Given the description of an element on the screen output the (x, y) to click on. 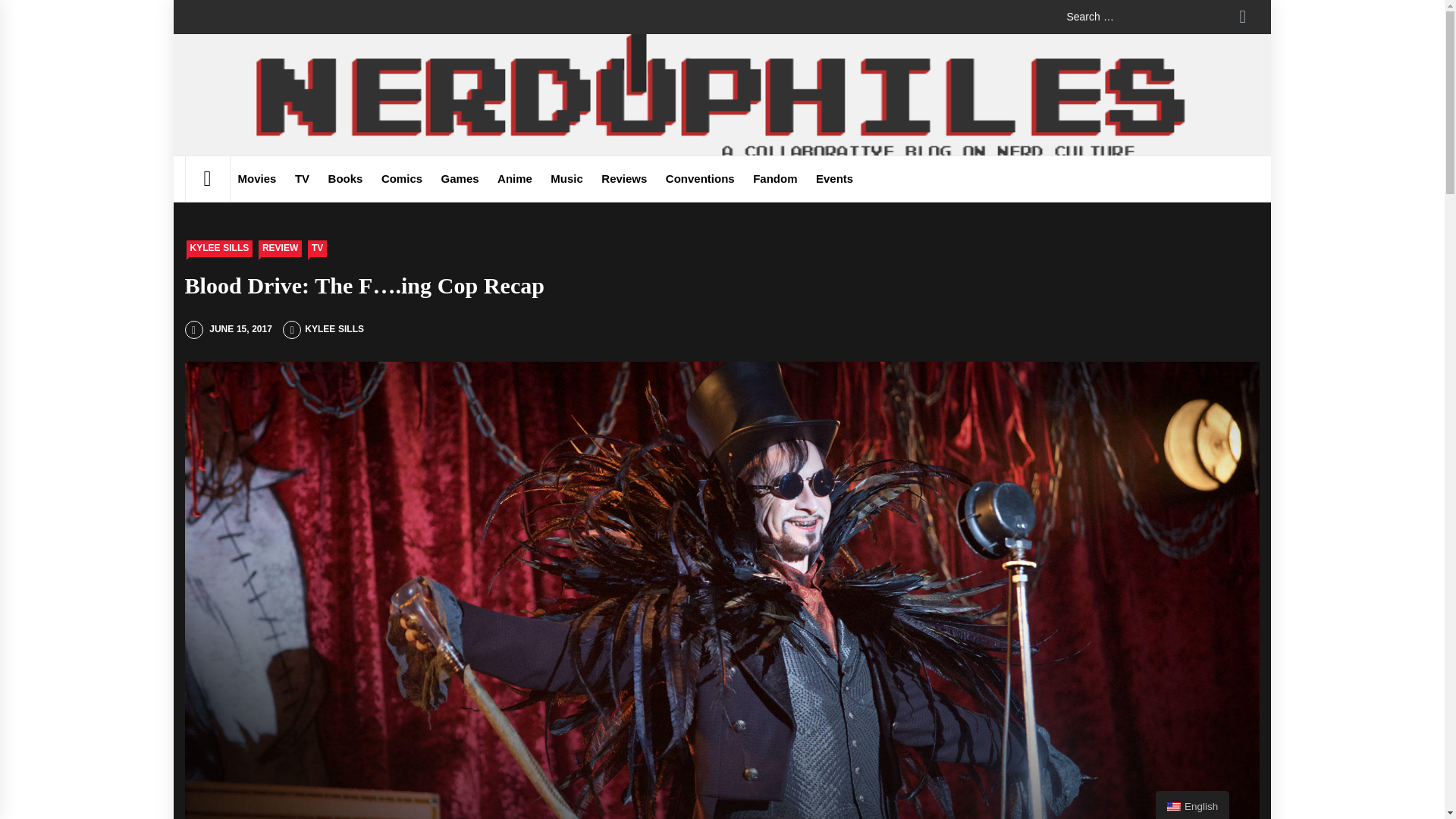
Reviews (623, 178)
Nerdophiles (276, 113)
Conventions (700, 178)
JUNE 15, 2017 (228, 328)
Games (459, 178)
Search (1242, 17)
Books (345, 178)
Fandom (775, 178)
TV (316, 248)
Events (834, 178)
